Given the description of an element on the screen output the (x, y) to click on. 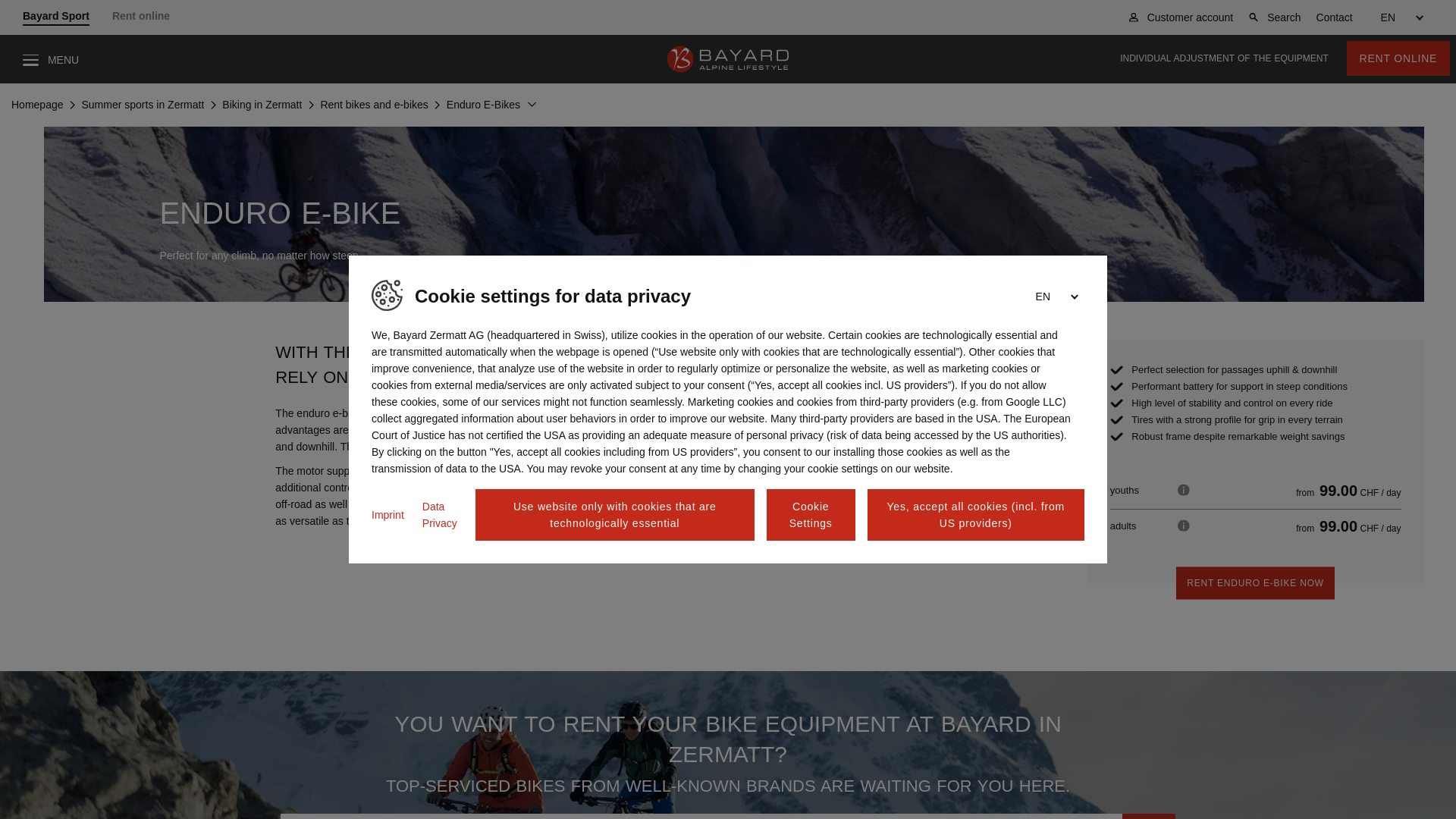
Rent online (140, 17)
Bayard Sport (55, 17)
Rent online (140, 17)
Bayard Sport (55, 17)
